Given the description of an element on the screen output the (x, y) to click on. 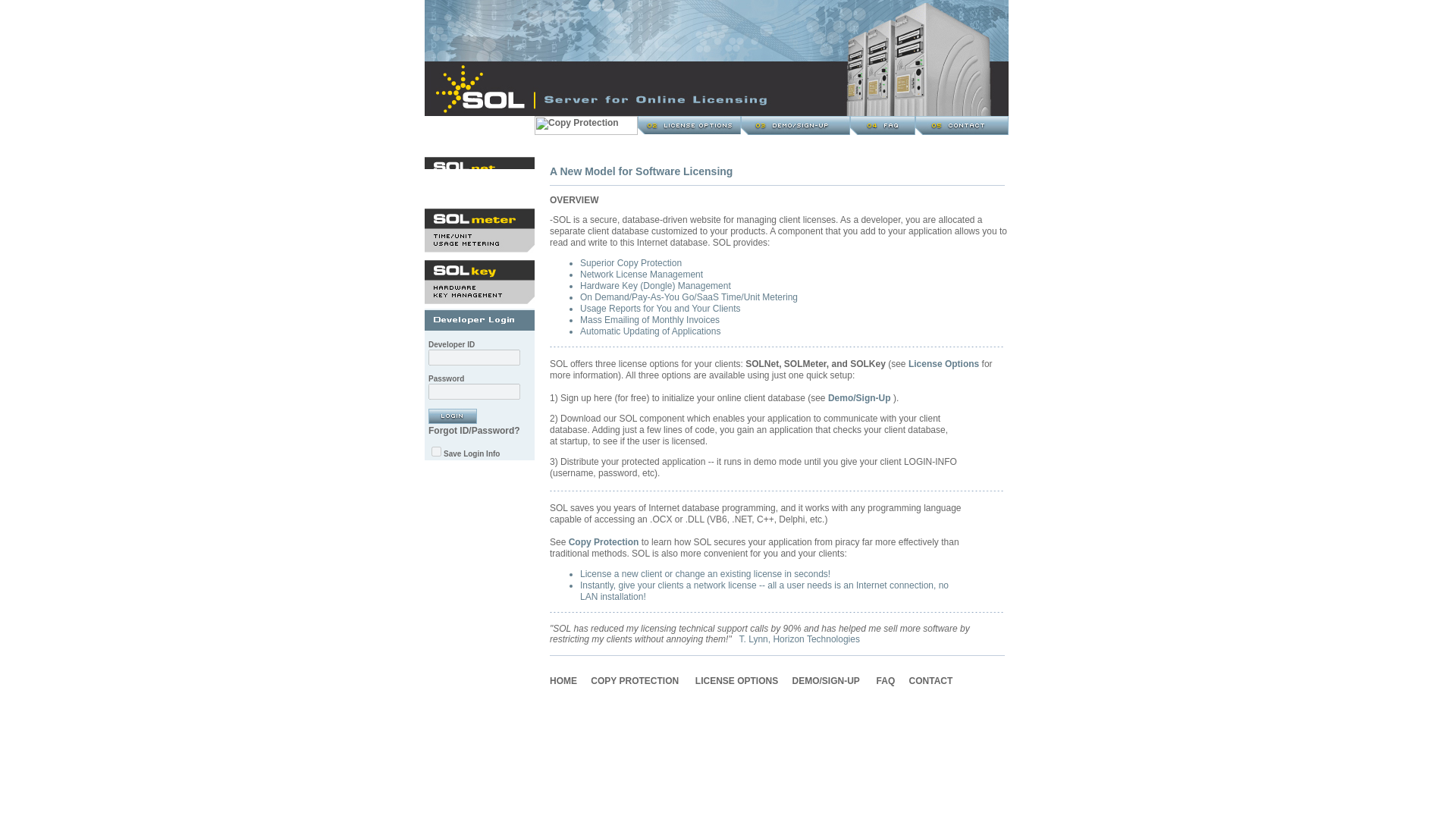
Click Here or SOL, Above (563, 680)
CONTACT (930, 680)
COPY PROTECTION (634, 680)
LICENSE OPTIONS (736, 680)
Contact Us (930, 680)
FAQ (885, 680)
Frequently Asked Questions (885, 680)
Copy Protection (634, 680)
License Options (736, 680)
HOME (563, 680)
